Given the description of an element on the screen output the (x, y) to click on. 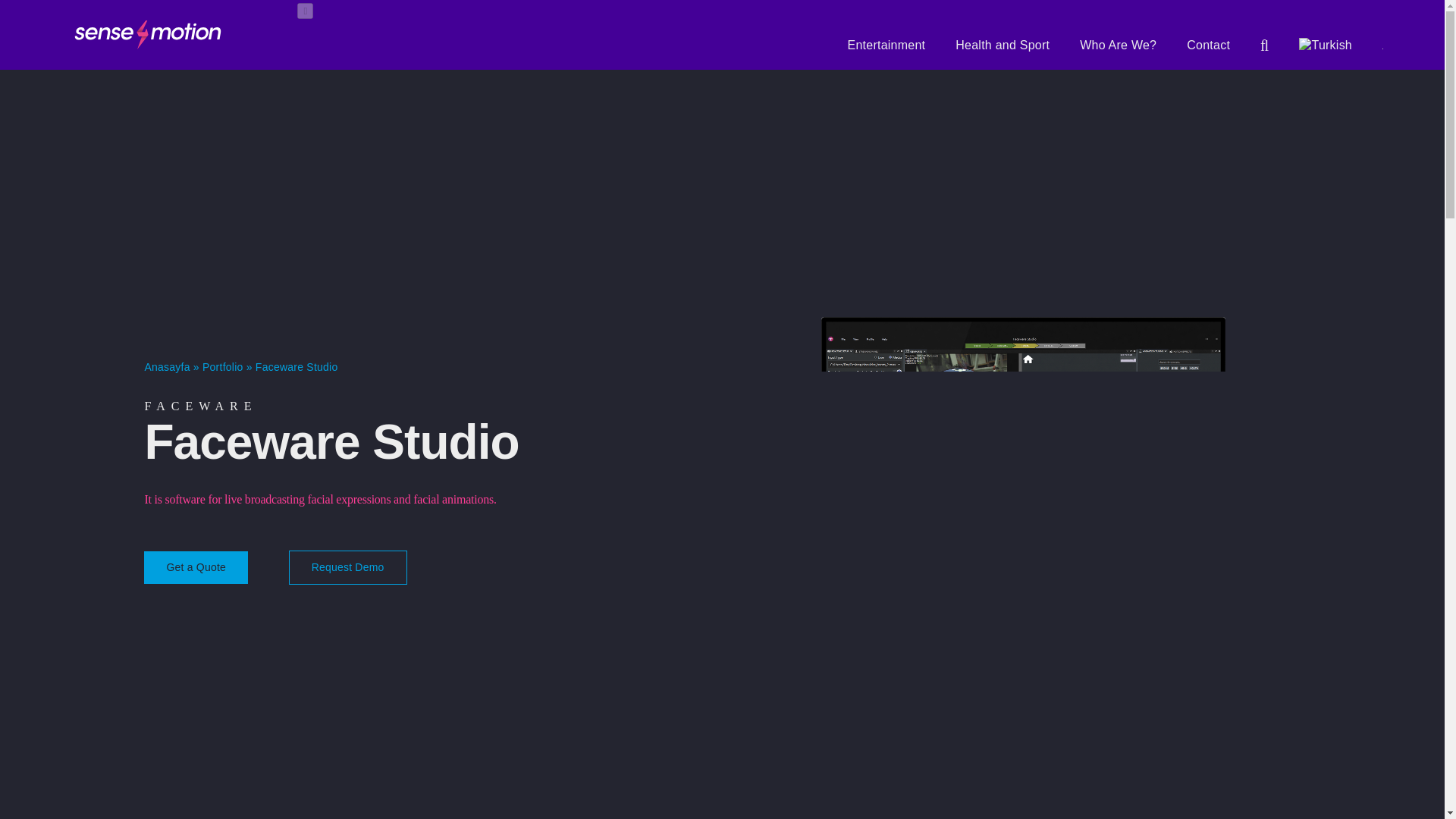
Request Demo (347, 567)
Contact (1208, 45)
Faceware (200, 405)
Health and Sport (1002, 45)
Ara (1264, 45)
Anasayfa (166, 367)
Who Are We? (1118, 45)
FACEWARE (200, 405)
Portfolio (222, 367)
Get a Quote (195, 567)
Toggle Navigation (305, 10)
Entertainment (886, 45)
